Given the description of an element on the screen output the (x, y) to click on. 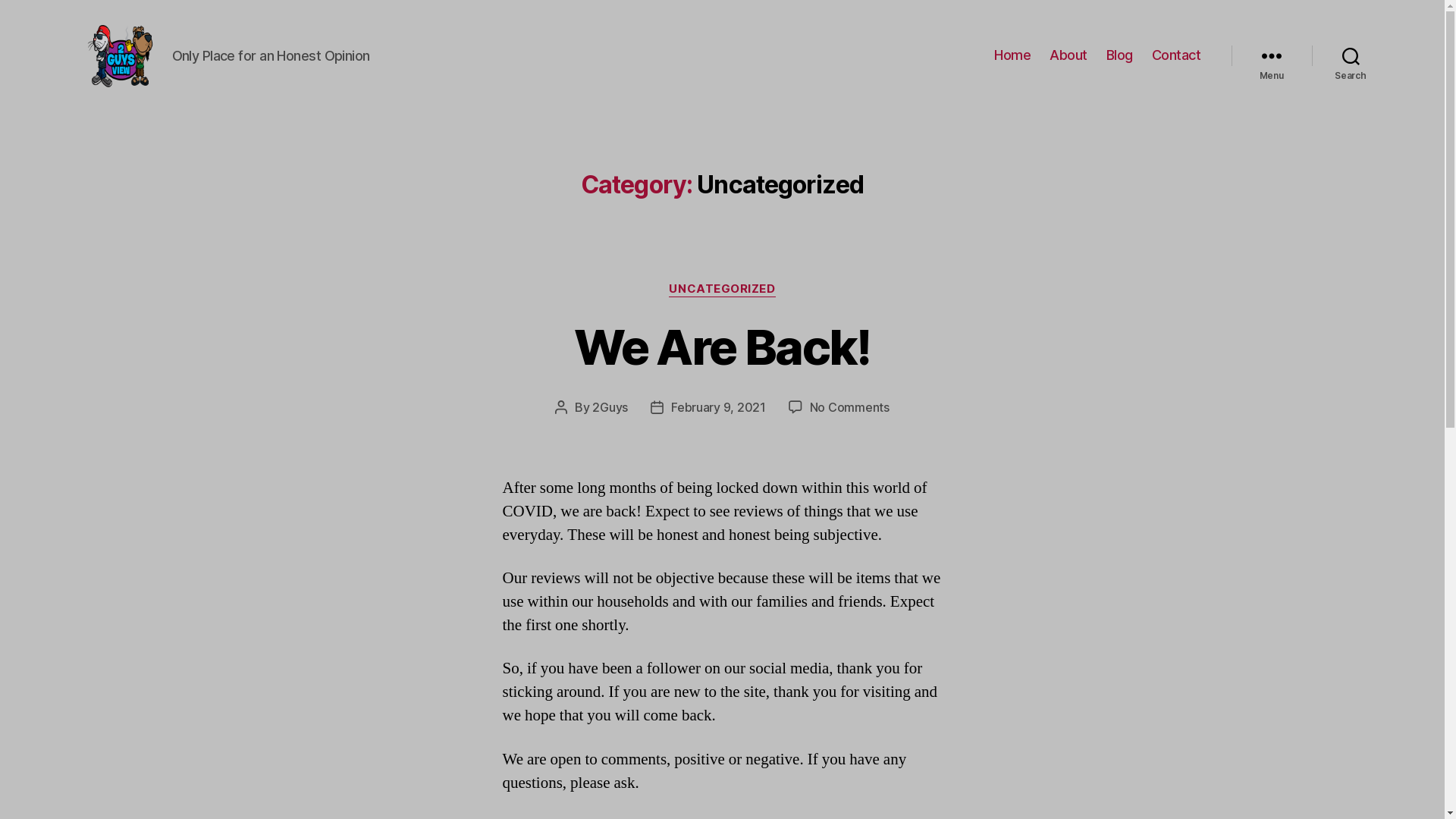
February 9, 2021 Element type: text (718, 406)
No Comments
on We Are Back! Element type: text (849, 406)
Contact Element type: text (1176, 55)
Blog Element type: text (1119, 55)
Home Element type: text (1012, 55)
About Element type: text (1068, 55)
2Guys Element type: text (609, 406)
Menu Element type: text (1271, 55)
We Are Back! Element type: text (721, 346)
UNCATEGORIZED Element type: text (721, 289)
Search Element type: text (1350, 55)
